Given the description of an element on the screen output the (x, y) to click on. 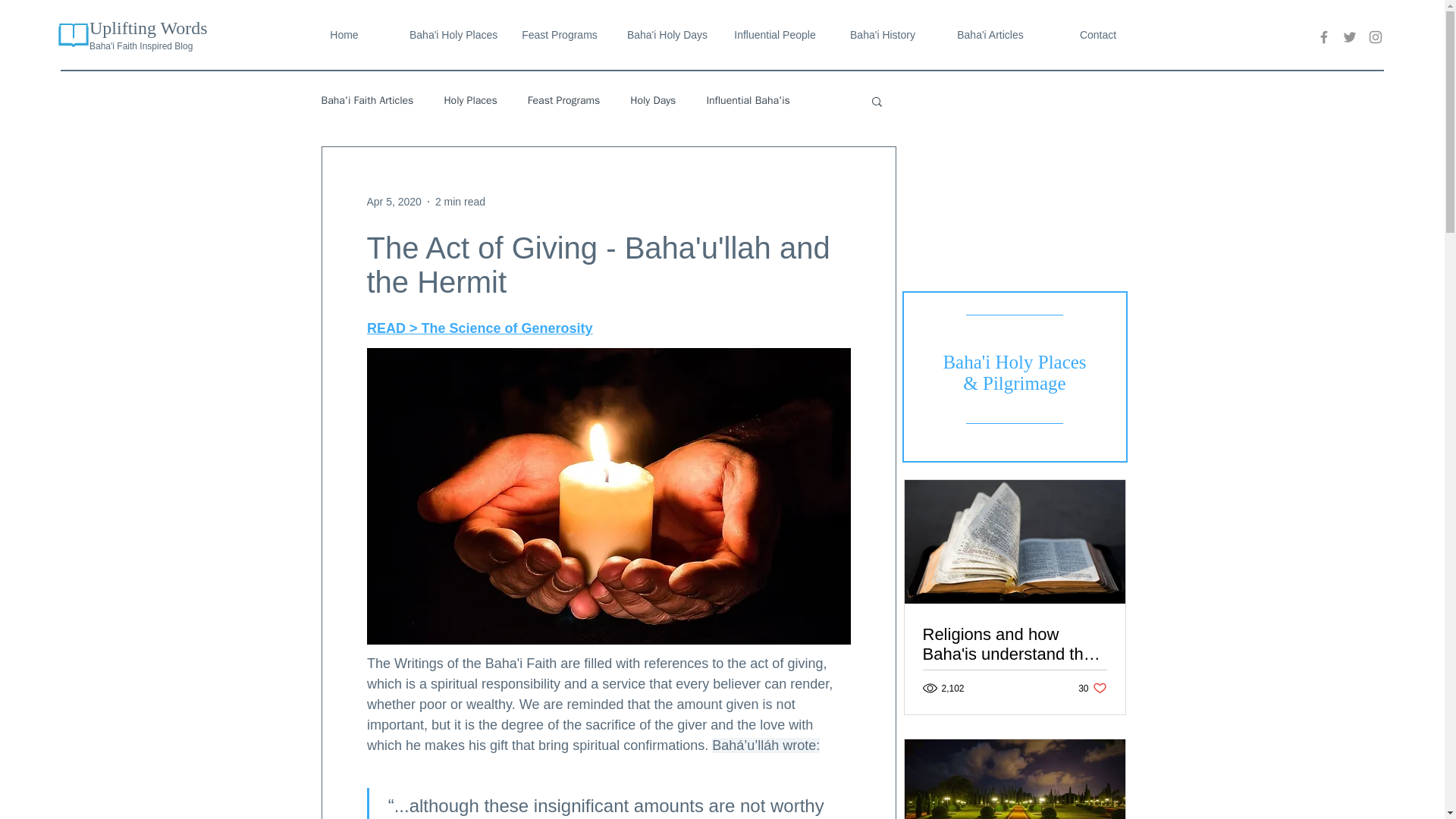
Uplifting Words (148, 27)
Baha'i Holy Places (451, 34)
Influential Baha'is (747, 100)
Contact (1097, 34)
Baha'i Holy Days (666, 34)
2 min read (459, 201)
Home (343, 34)
Holy Days (652, 100)
Baha'i Articles (989, 34)
Holy Places (470, 100)
